Given the description of an element on the screen output the (x, y) to click on. 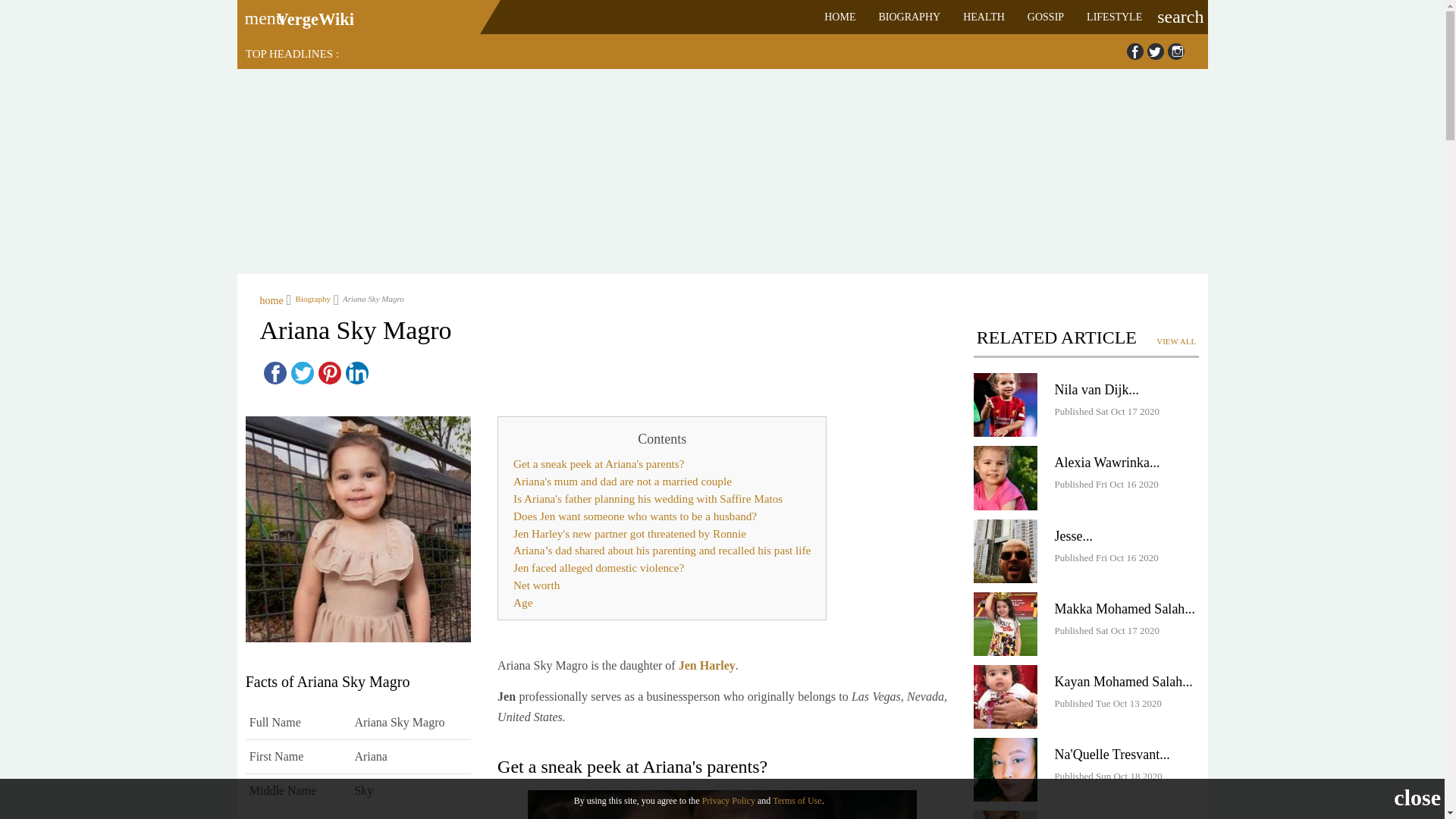
Ariana's mum and dad are not a married couple (661, 481)
Jen Harley's new partner got threatened by Ronnie (661, 533)
Is Ariana's father planning his wedding with Saffire Matos (661, 498)
Makka Mohamed Salah (1119, 608)
Na'Quelle Tresvant (1106, 754)
LIFESTYLE (1114, 17)
menu (259, 13)
Jesse (1067, 535)
Makka Mohamed Salah (1005, 624)
Kayan Mohamed Salah  (1005, 696)
Nila van Dijk (1091, 389)
Na'Quelle Tresvant (1005, 769)
Privacy Policy (728, 800)
GOSSIP (1045, 17)
Biography (308, 298)
